Given the description of an element on the screen output the (x, y) to click on. 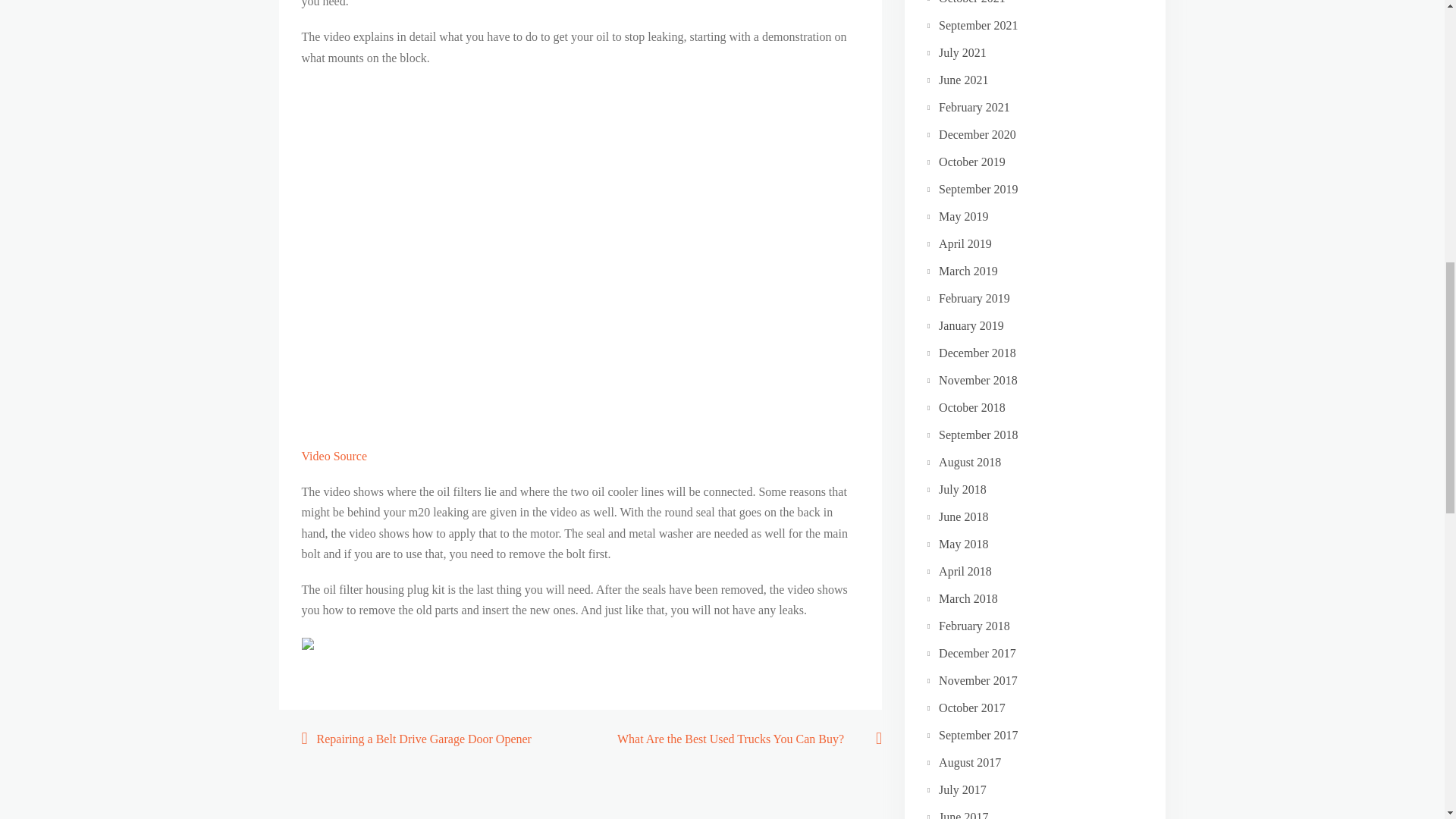
October 2021 (972, 2)
Video Source (334, 455)
September 2021 (978, 24)
July 2021 (963, 51)
Repairing a Belt Drive Garage Door Opener (424, 738)
What Are the Best Used Trucks You Can Buy? (730, 738)
